Given the description of an element on the screen output the (x, y) to click on. 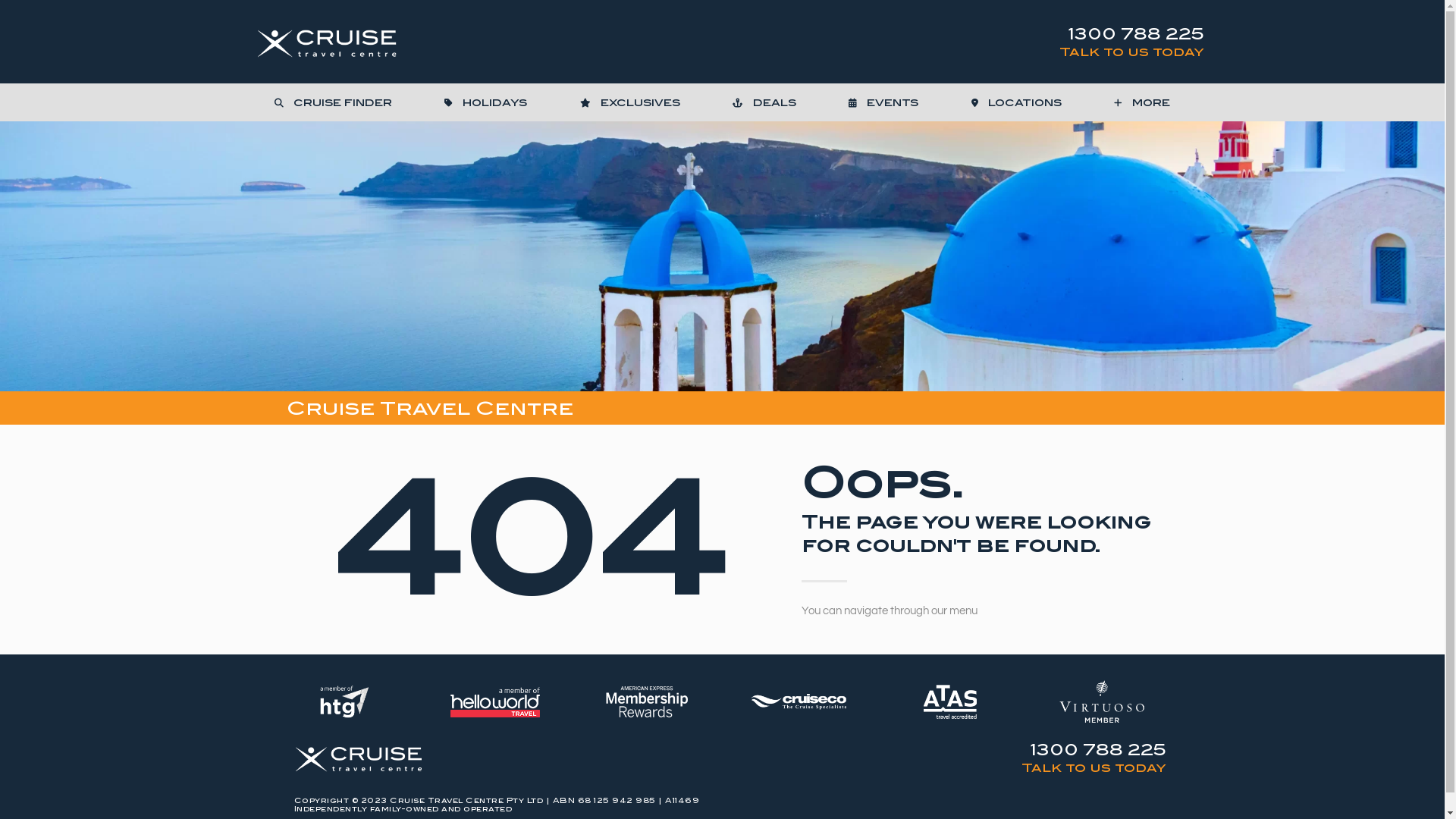
deals Element type: text (764, 102)
locations Element type: text (1015, 102)
holidays Element type: text (485, 102)
events Element type: text (883, 102)
1300 788 225 Element type: text (1097, 749)
exclusives Element type: text (629, 102)
1300 788 225 Element type: text (1135, 33)
more Element type: text (1141, 102)
cruise finder Element type: text (333, 102)
